Given the description of an element on the screen output the (x, y) to click on. 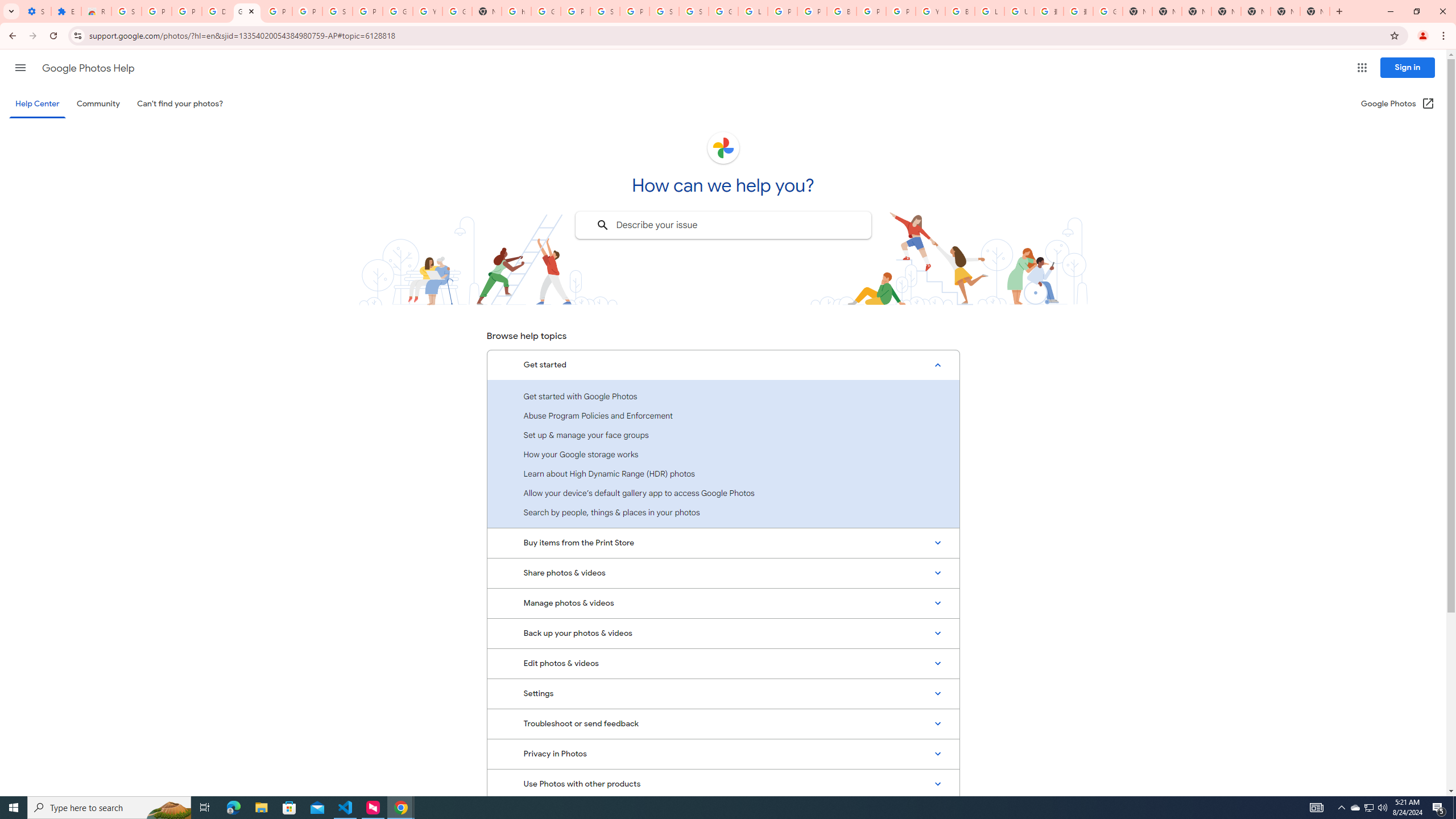
Google Photos Help (247, 11)
New Tab (1314, 11)
Google Photos (Open in a new window) (1397, 103)
Edit photos & videos (722, 663)
https://scholar.google.com/ (515, 11)
Troubleshoot or send feedback (722, 723)
Sign in - Google Accounts (126, 11)
YouTube (426, 11)
